Given the description of an element on the screen output the (x, y) to click on. 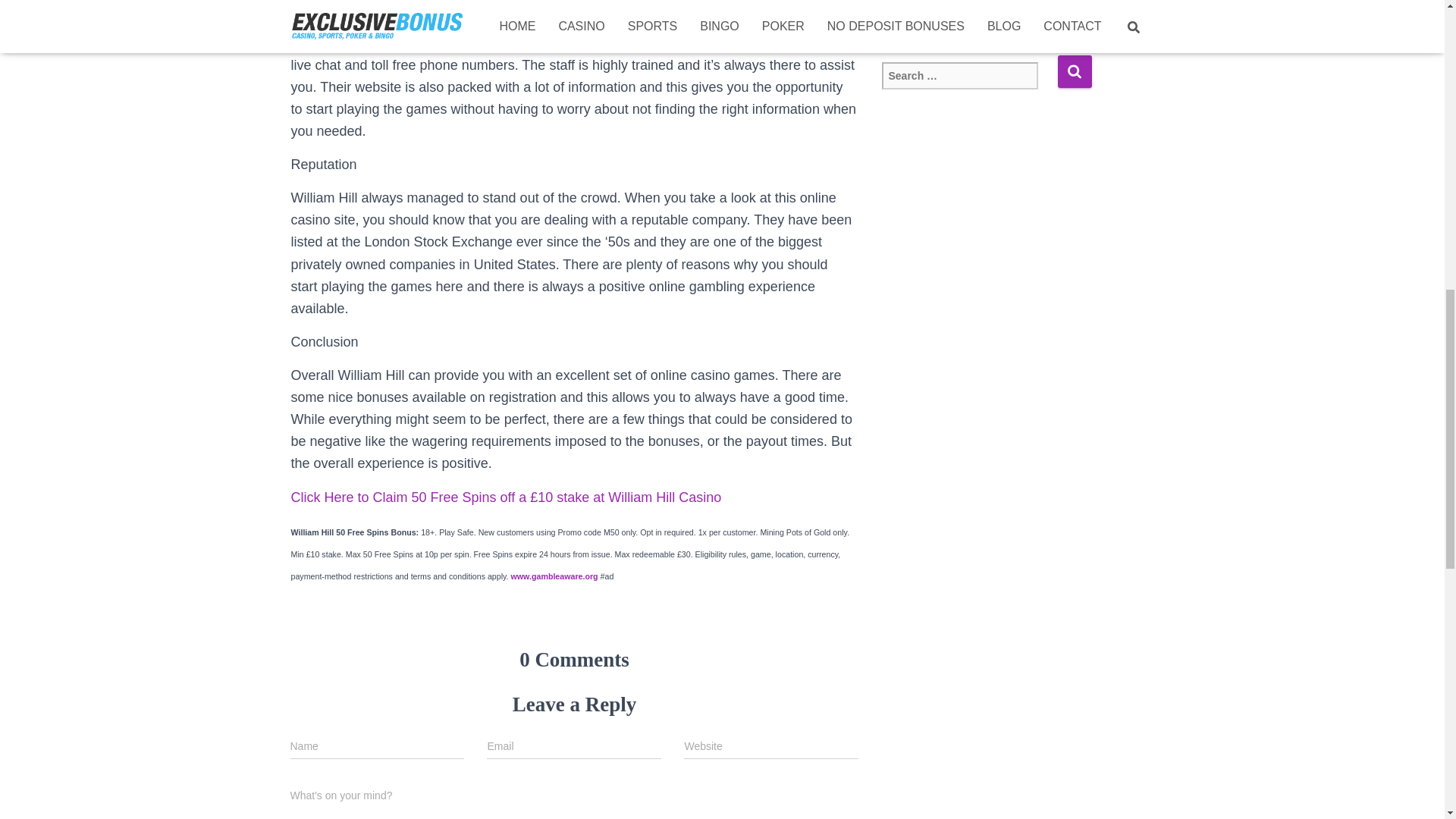
William Hill Megaways Promotion (966, 25)
www.gambleaware.org (554, 575)
Search (1073, 71)
Search (1073, 71)
What is the Best Time to Place Your Racing Bets? (973, 1)
Search (1073, 71)
